Given the description of an element on the screen output the (x, y) to click on. 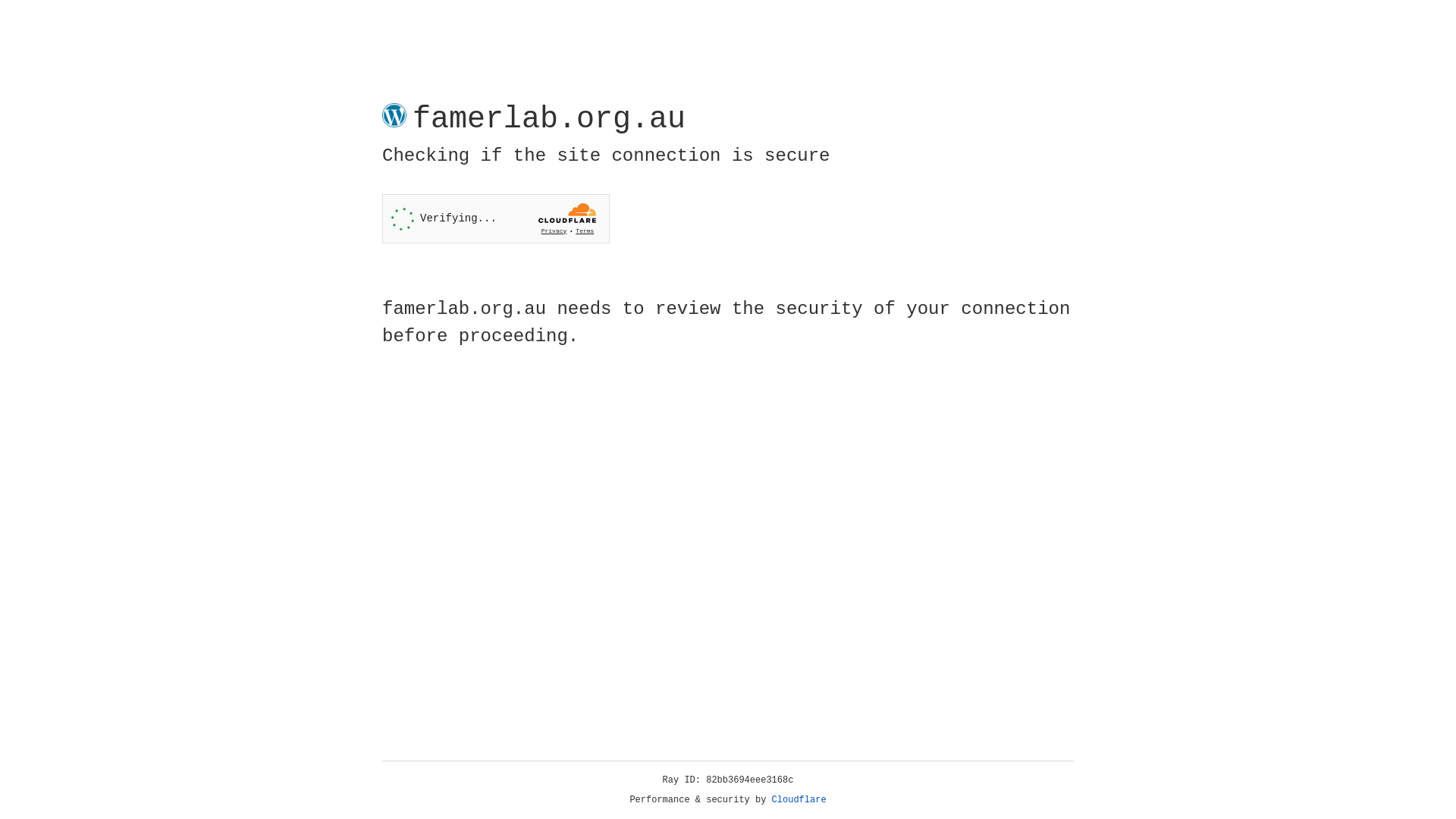
Cloudflare Element type: text (798, 799)
Widget containing a Cloudflare security challenge Element type: hover (495, 218)
